Given the description of an element on the screen output the (x, y) to click on. 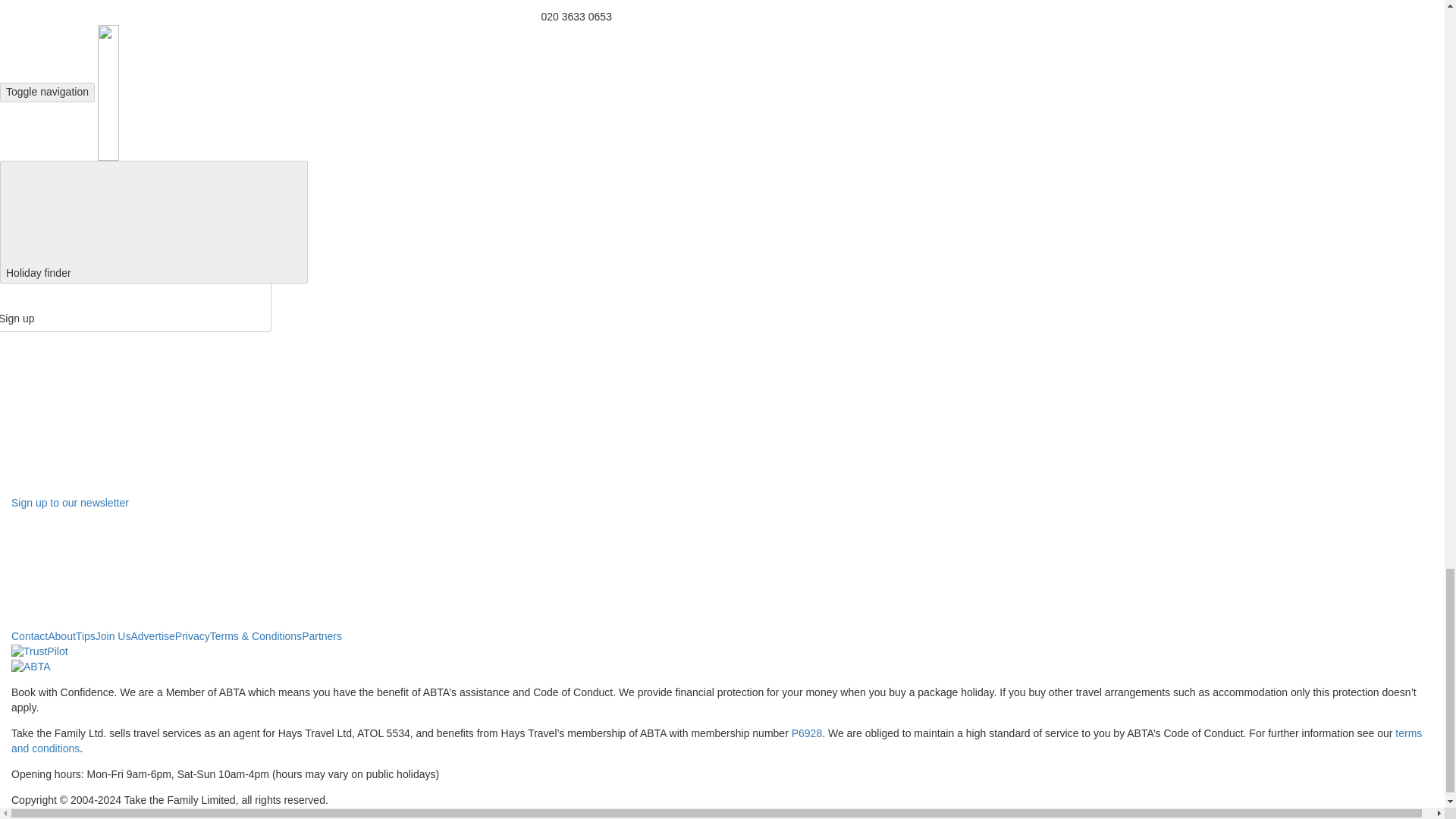
TrustPilot (39, 652)
